Given the description of an element on the screen output the (x, y) to click on. 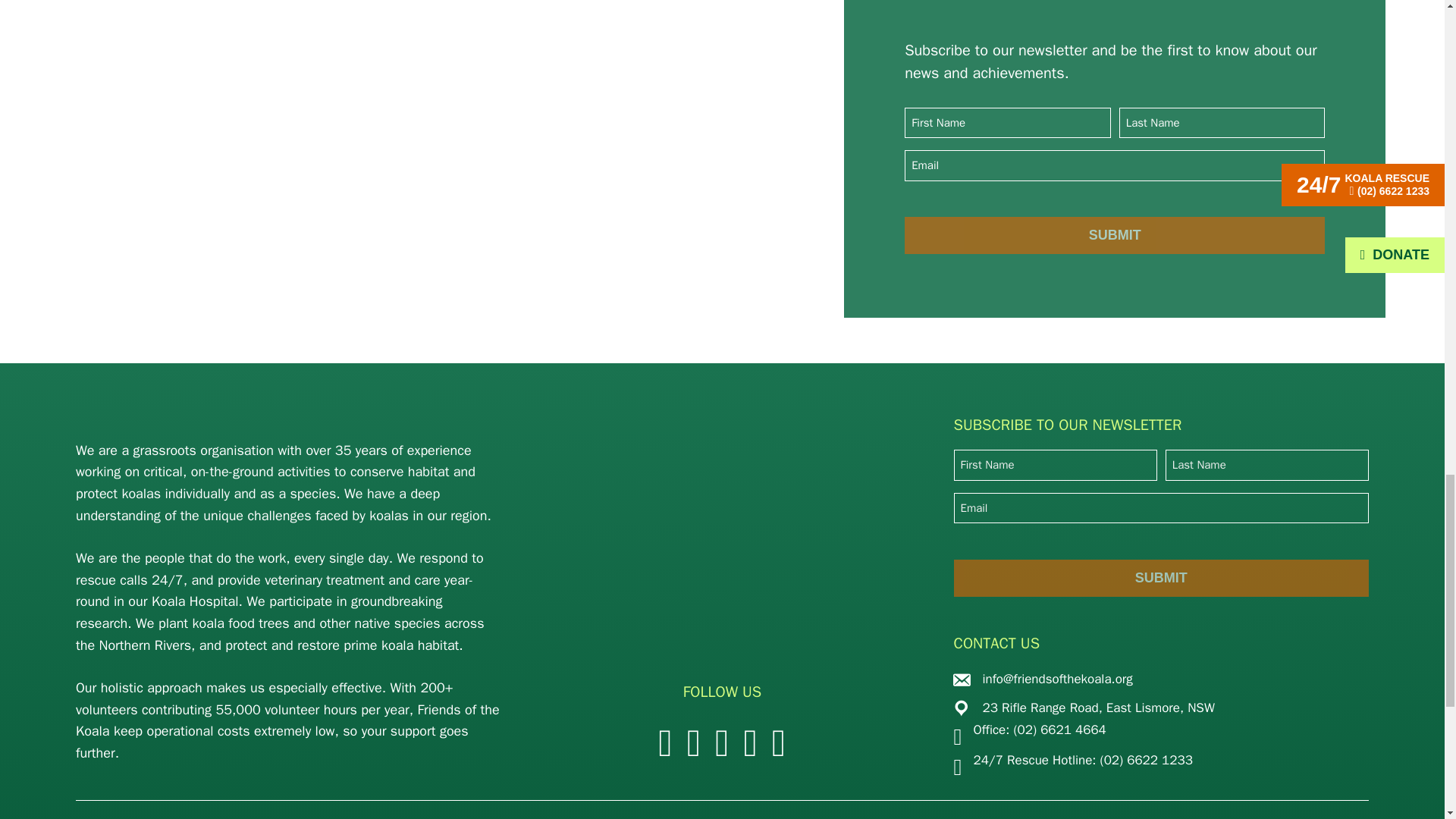
Submit (1160, 578)
Submit (1114, 235)
